Given the description of an element on the screen output the (x, y) to click on. 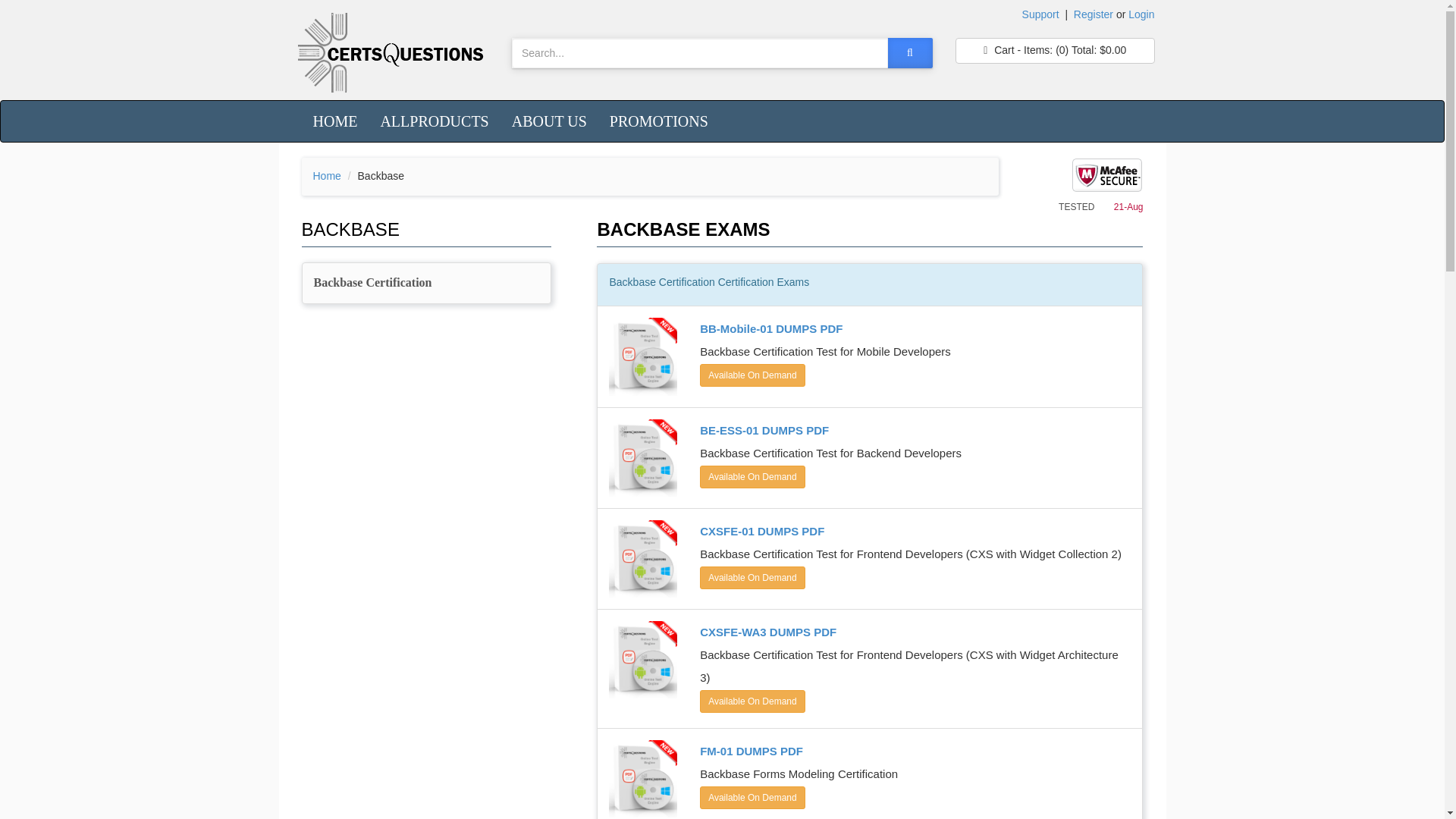
FM-01 DUMPS PDF (751, 750)
BB-Mobile-01 DUMPS PDF (771, 328)
Backbase  CXSFE-01 (752, 577)
Backbase Certification (426, 282)
Available On Demand (752, 701)
Backbase  BE-ESS-01 (752, 477)
BE-ESS-01 DUMPS PDF (764, 430)
Home (326, 175)
Backbase  BE-ESS-01 (764, 430)
Available On Demand (752, 374)
